Given the description of an element on the screen output the (x, y) to click on. 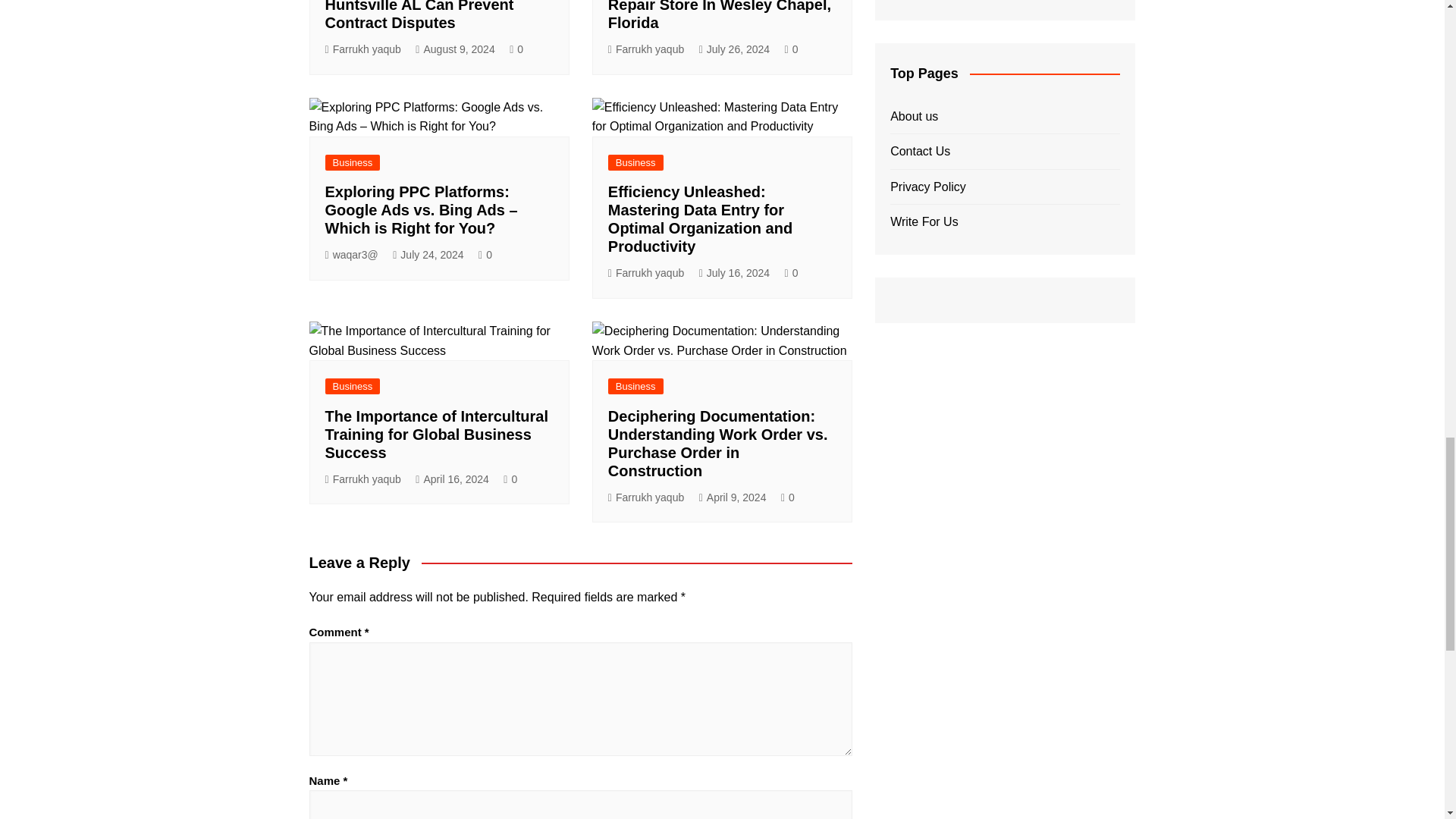
July 24, 2024 (428, 254)
Farrukh yaqub (646, 49)
Farrukh yaqub (362, 49)
August 9, 2024 (454, 49)
July 26, 2024 (734, 49)
Business (352, 162)
